Given the description of an element on the screen output the (x, y) to click on. 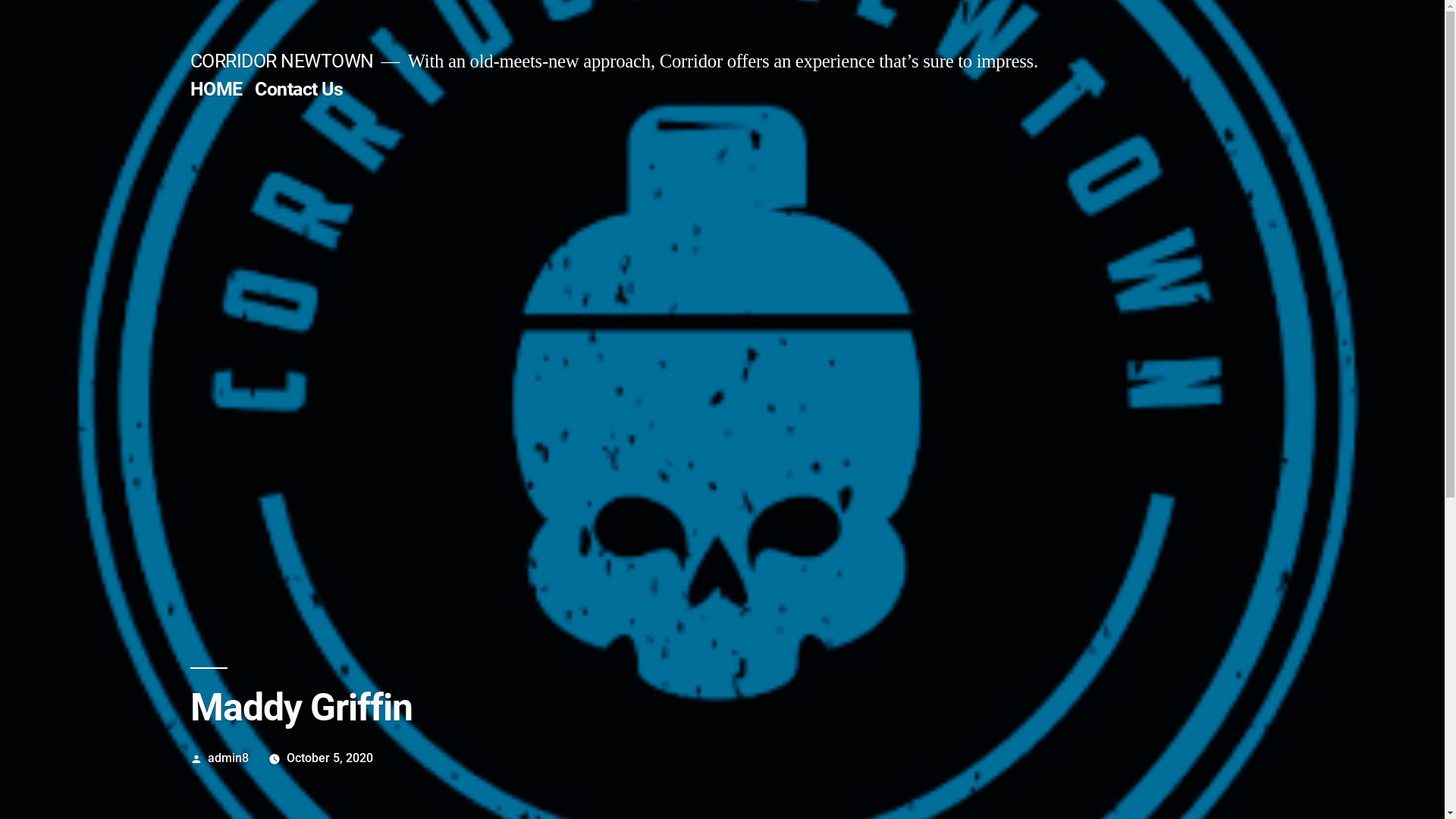
HOME Element type: text (215, 89)
CORRIDOR NEWTOWN Element type: text (281, 61)
October 5, 2020 Element type: text (329, 757)
Contact Us Element type: text (298, 89)
admin8 Element type: text (227, 757)
